Given the description of an element on the screen output the (x, y) to click on. 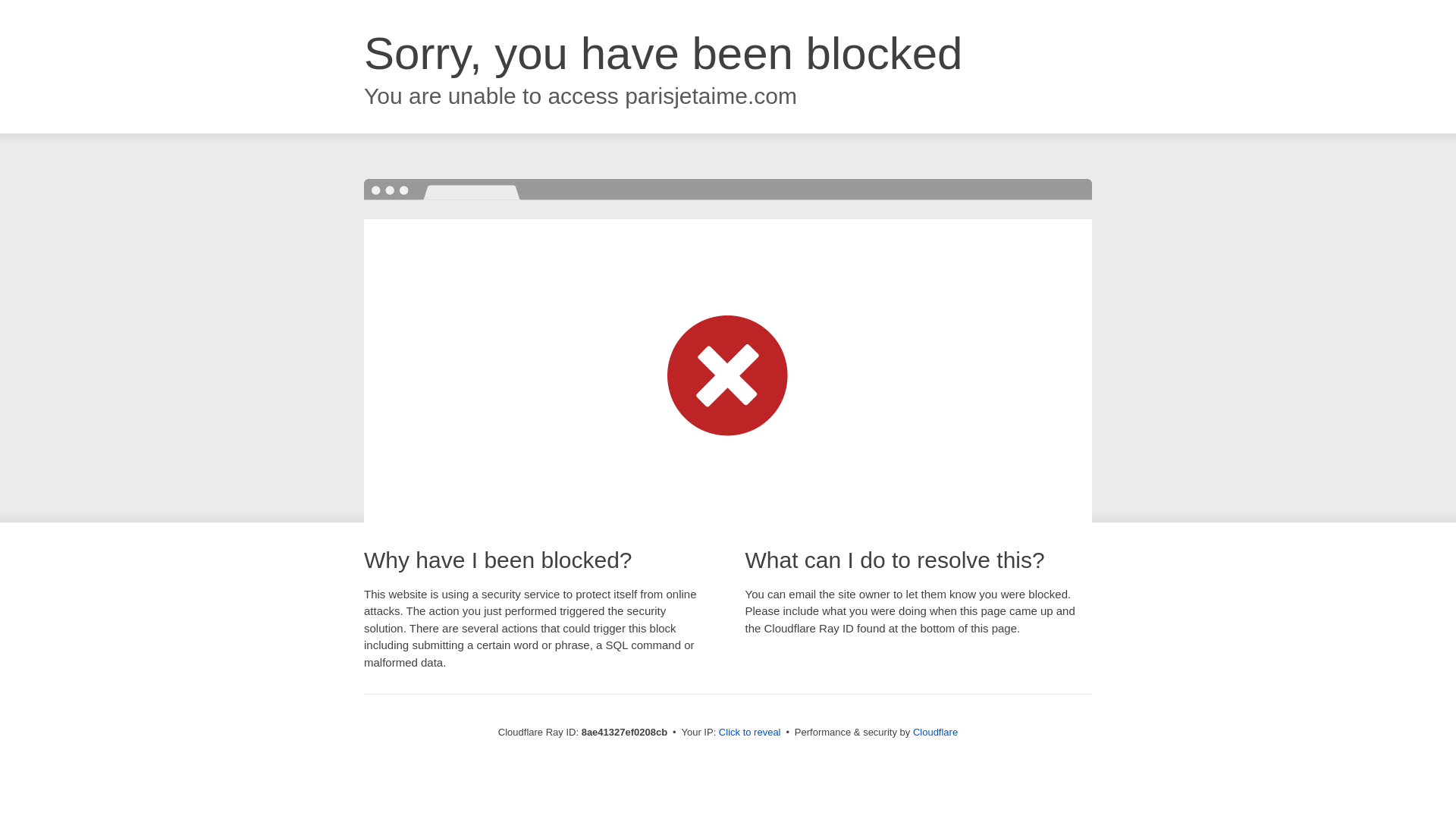
Click to reveal (749, 732)
Cloudflare (935, 731)
